Given the description of an element on the screen output the (x, y) to click on. 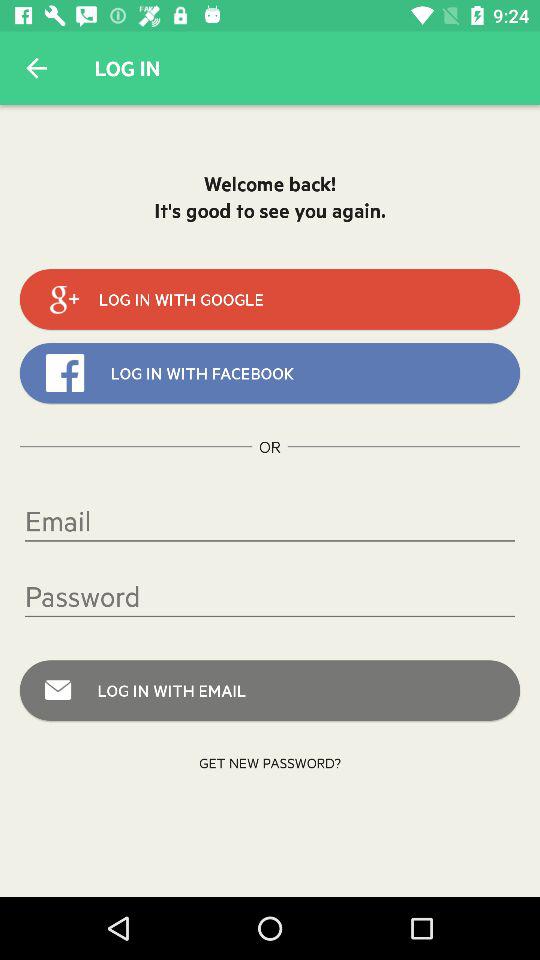
press the icon to the left of the log in item (36, 68)
